Given the description of an element on the screen output the (x, y) to click on. 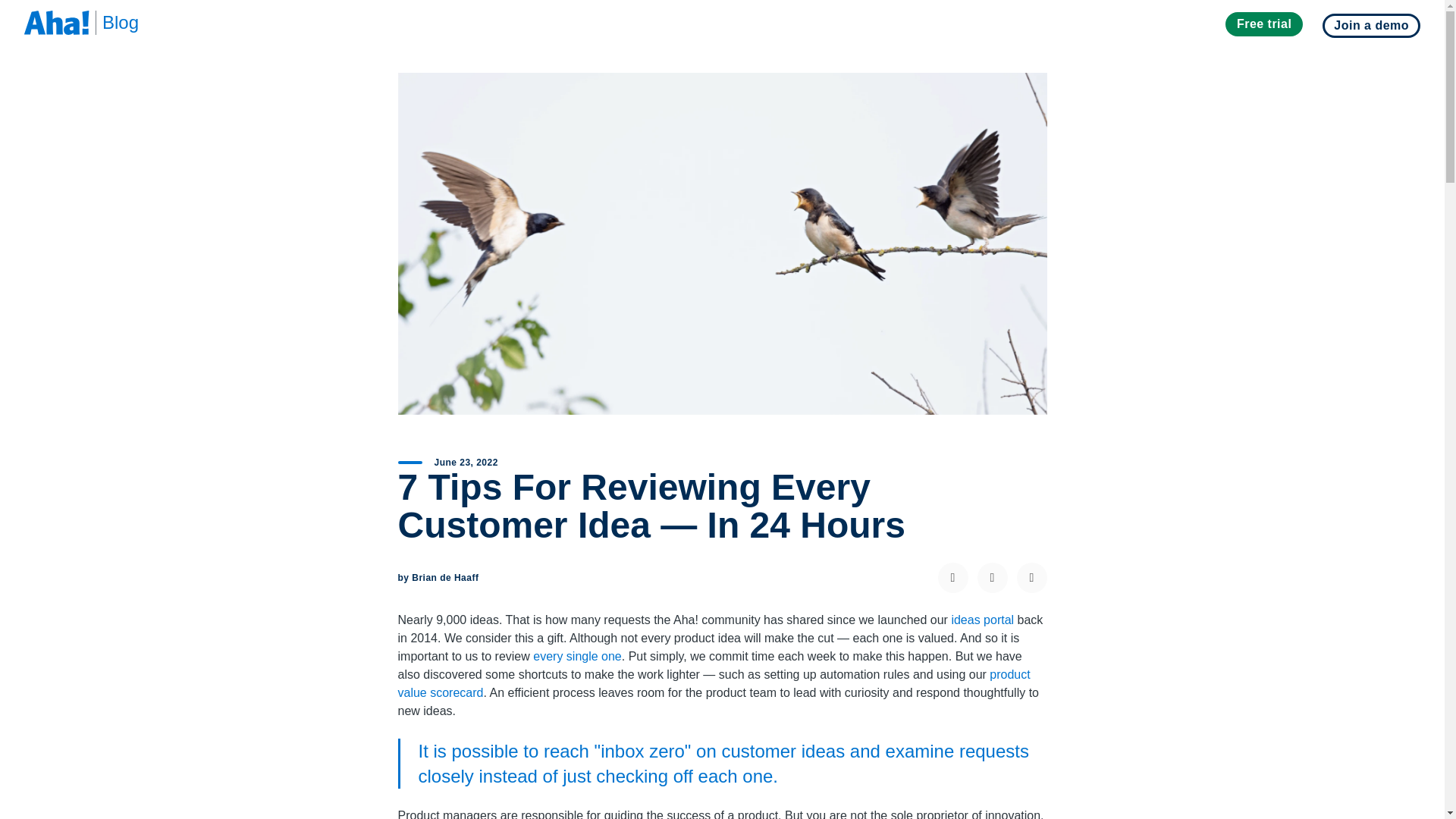
Blog (113, 22)
Join a demo (1371, 25)
ideas portal (981, 619)
product value scorecard (713, 683)
Free trial (1264, 24)
every single one (576, 656)
